Given the description of an element on the screen output the (x, y) to click on. 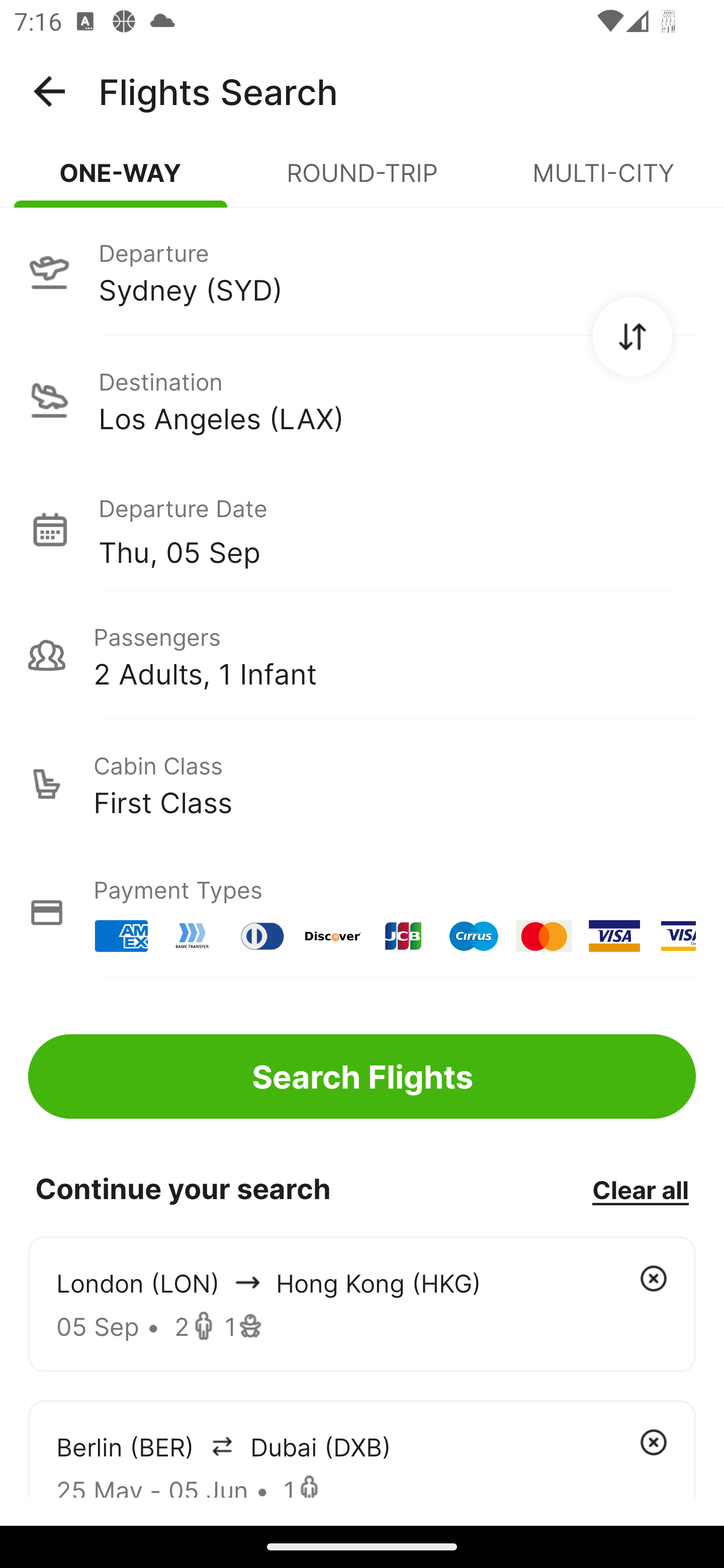
ONE-WAY (120, 180)
ROUND-TRIP (361, 180)
MULTI-CITY (603, 180)
Departure Sydney (SYD) (362, 270)
Destination Los Angeles (LAX) (362, 400)
Departure Date Thu, 05 Sep (396, 528)
Passengers 2 Adults, 1 Infant (362, 655)
Cabin Class First Class (362, 783)
Payment Types (362, 912)
Search Flights (361, 1075)
Clear all (640, 1189)
